Given the description of an element on the screen output the (x, y) to click on. 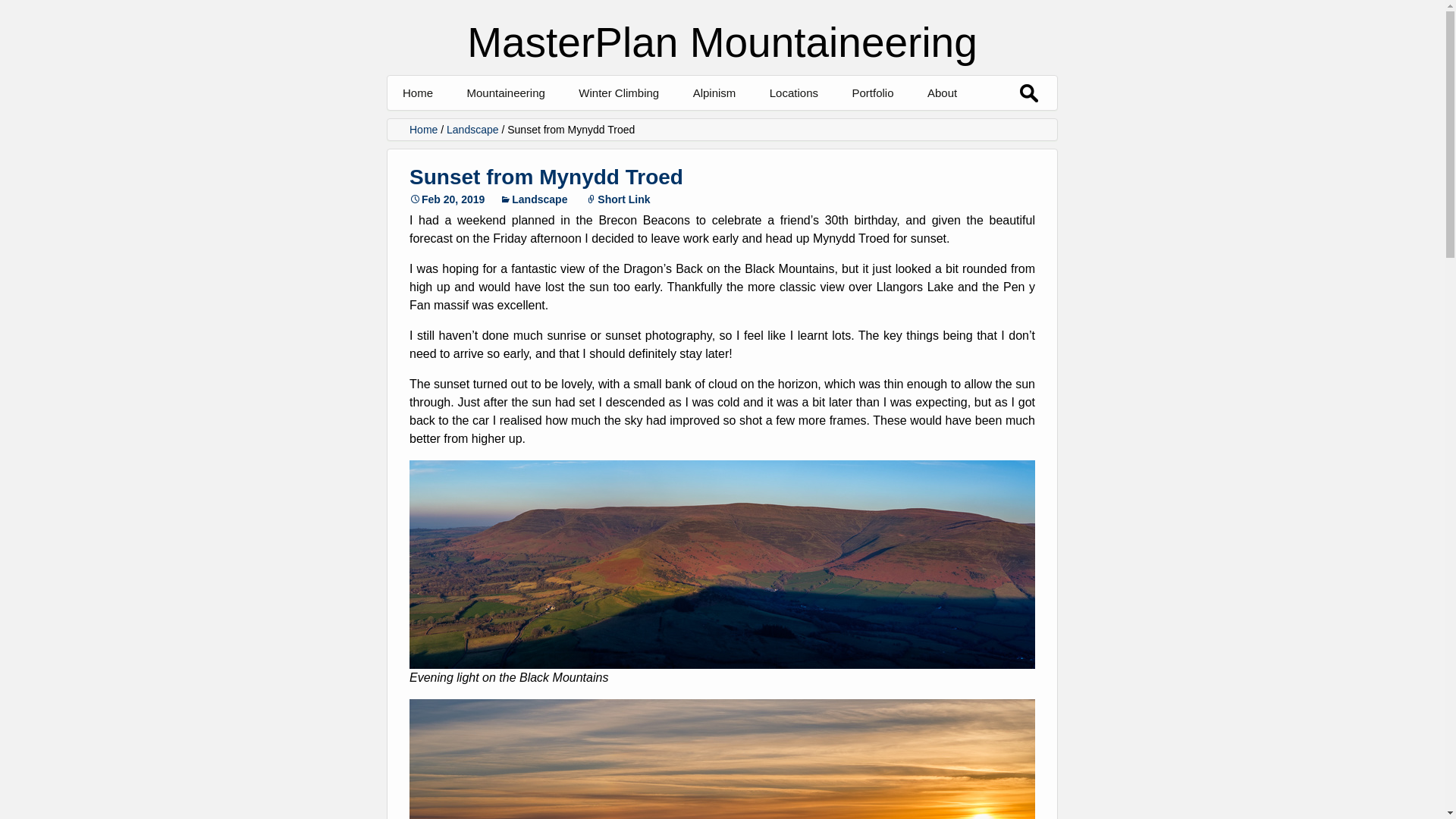
Locations (793, 92)
Contact (1003, 126)
About (942, 92)
Portfolio (871, 92)
All (542, 126)
Permalink to Sunset from Mynydd Troed (446, 199)
Winter Climbing (618, 92)
Alpinism (714, 92)
Climbing-Alpine (926, 126)
Home (417, 92)
North Wales (845, 126)
Mountaineering (505, 92)
Blog (654, 126)
Blog (769, 126)
